Given the description of an element on the screen output the (x, y) to click on. 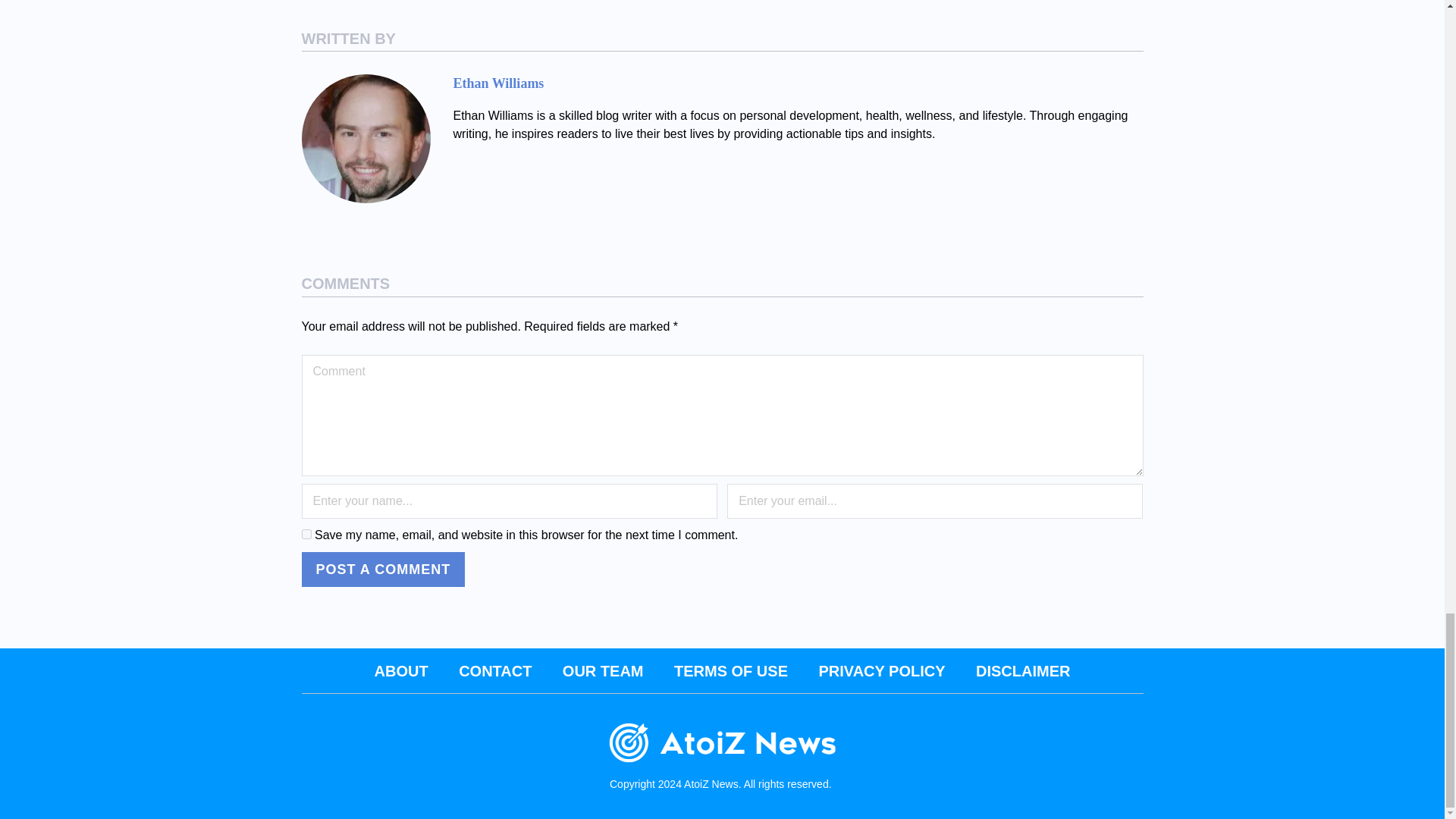
Posts by Ethan Williams (498, 83)
CONTACT (494, 670)
Ethan Williams (498, 83)
ABOUT (401, 670)
yes (306, 533)
PRIVACY POLICY (881, 670)
DISCLAIMER (1022, 670)
TERMS OF USE (730, 670)
POST a comment (383, 569)
POST a comment (383, 569)
